Given the description of an element on the screen output the (x, y) to click on. 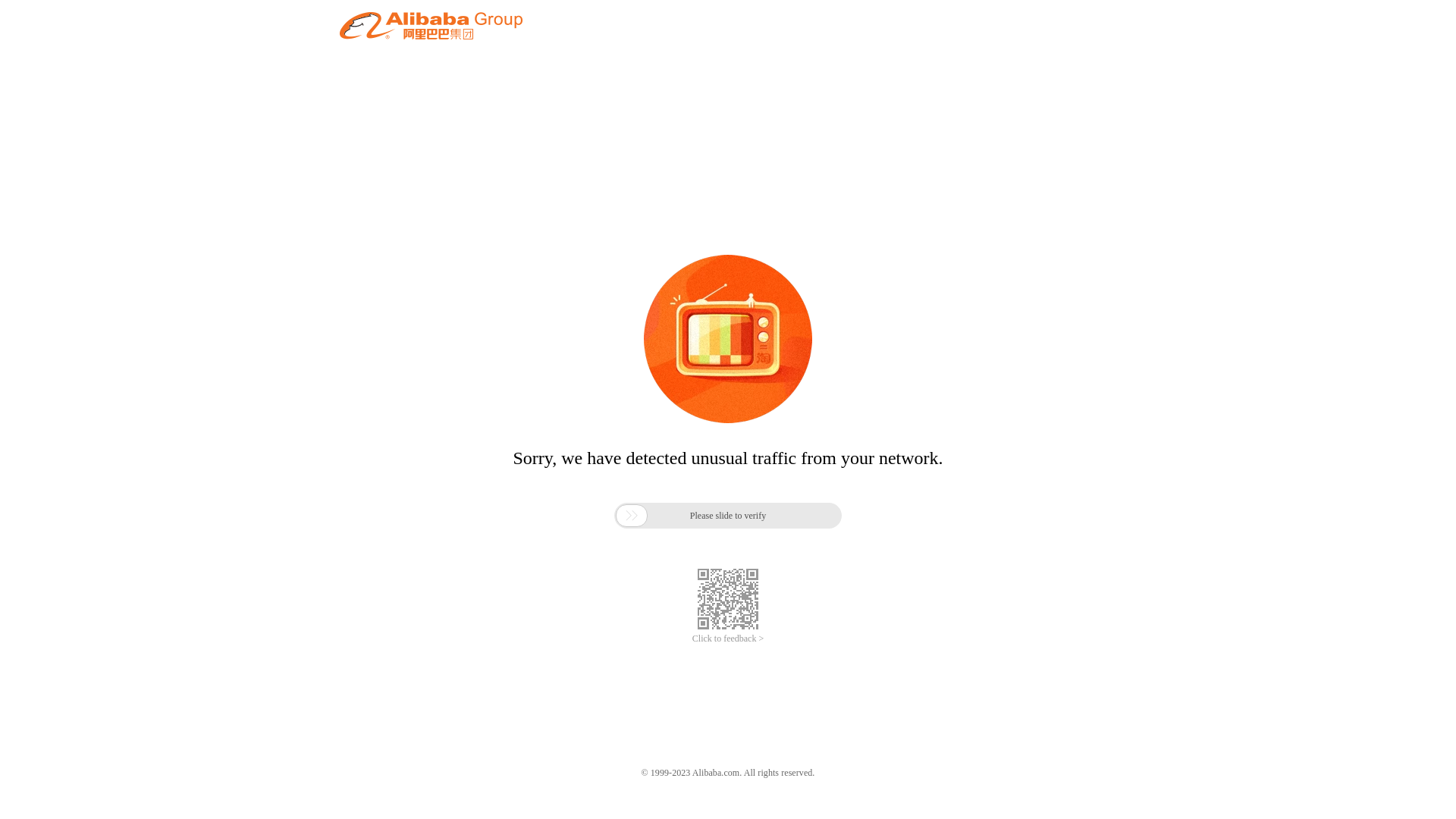
Click to feedback > Element type: text (727, 638)
